Given the description of an element on the screen output the (x, y) to click on. 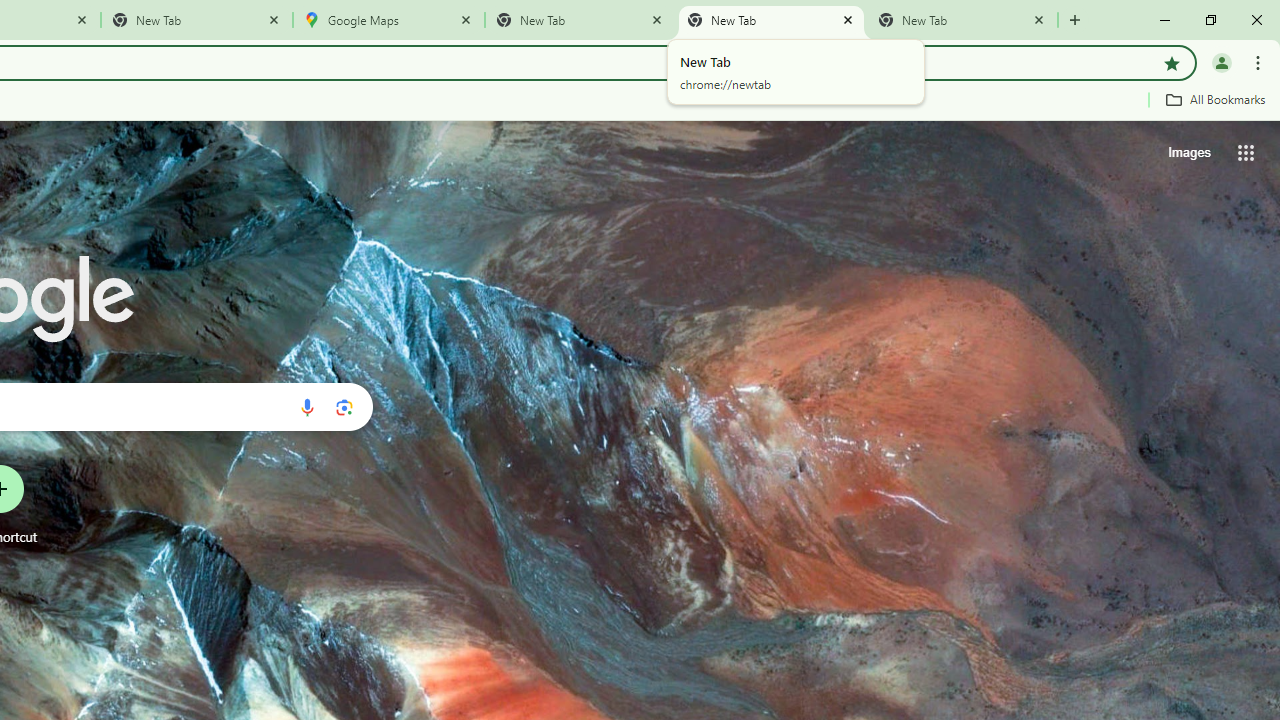
New Tab (197, 20)
New Tab (962, 20)
Google Maps (389, 20)
